Given the description of an element on the screen output the (x, y) to click on. 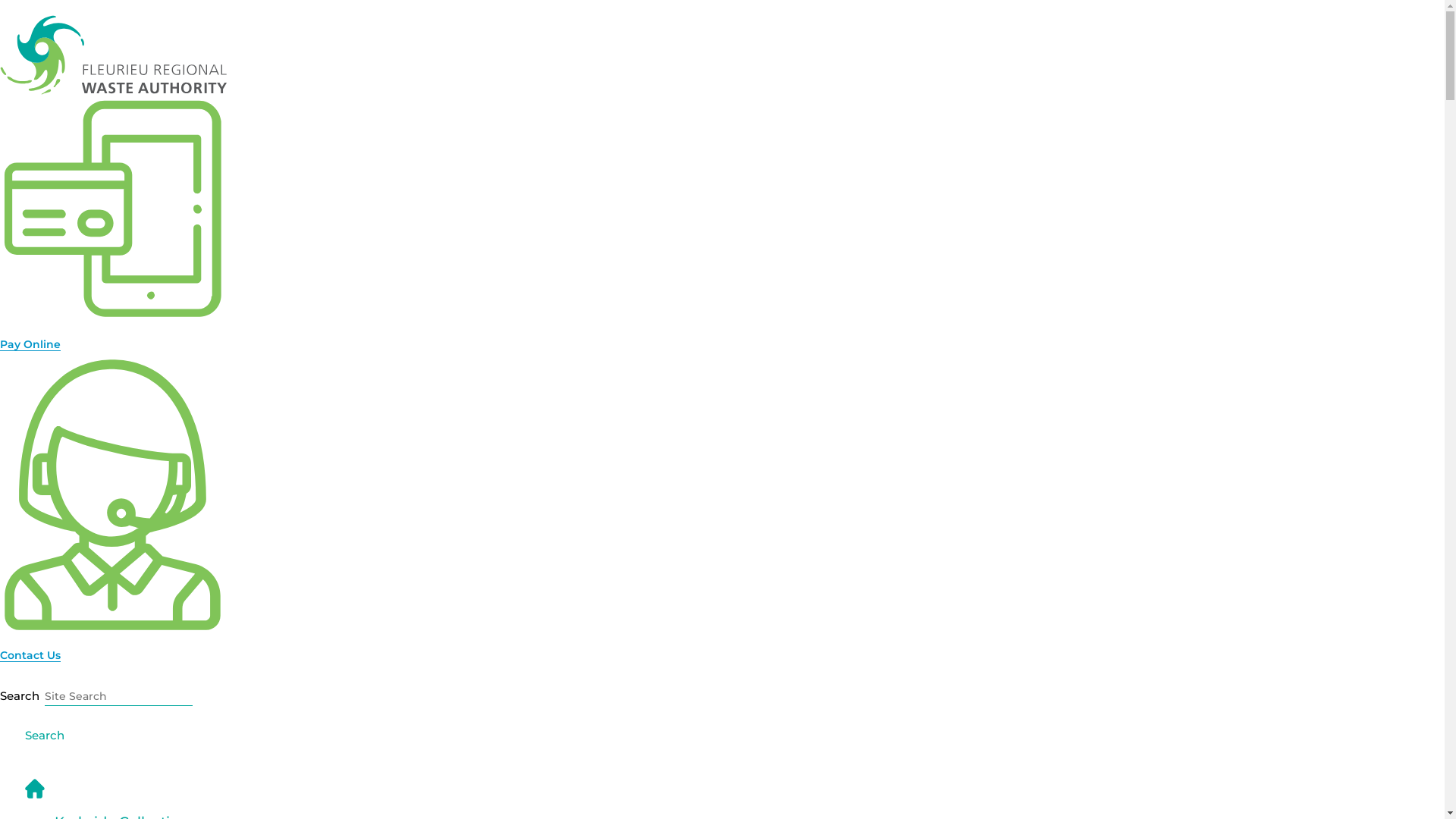
Pay Online Element type: text (30, 343)
Contact Us Element type: text (30, 655)
Search Element type: text (44, 733)
